Given the description of an element on the screen output the (x, y) to click on. 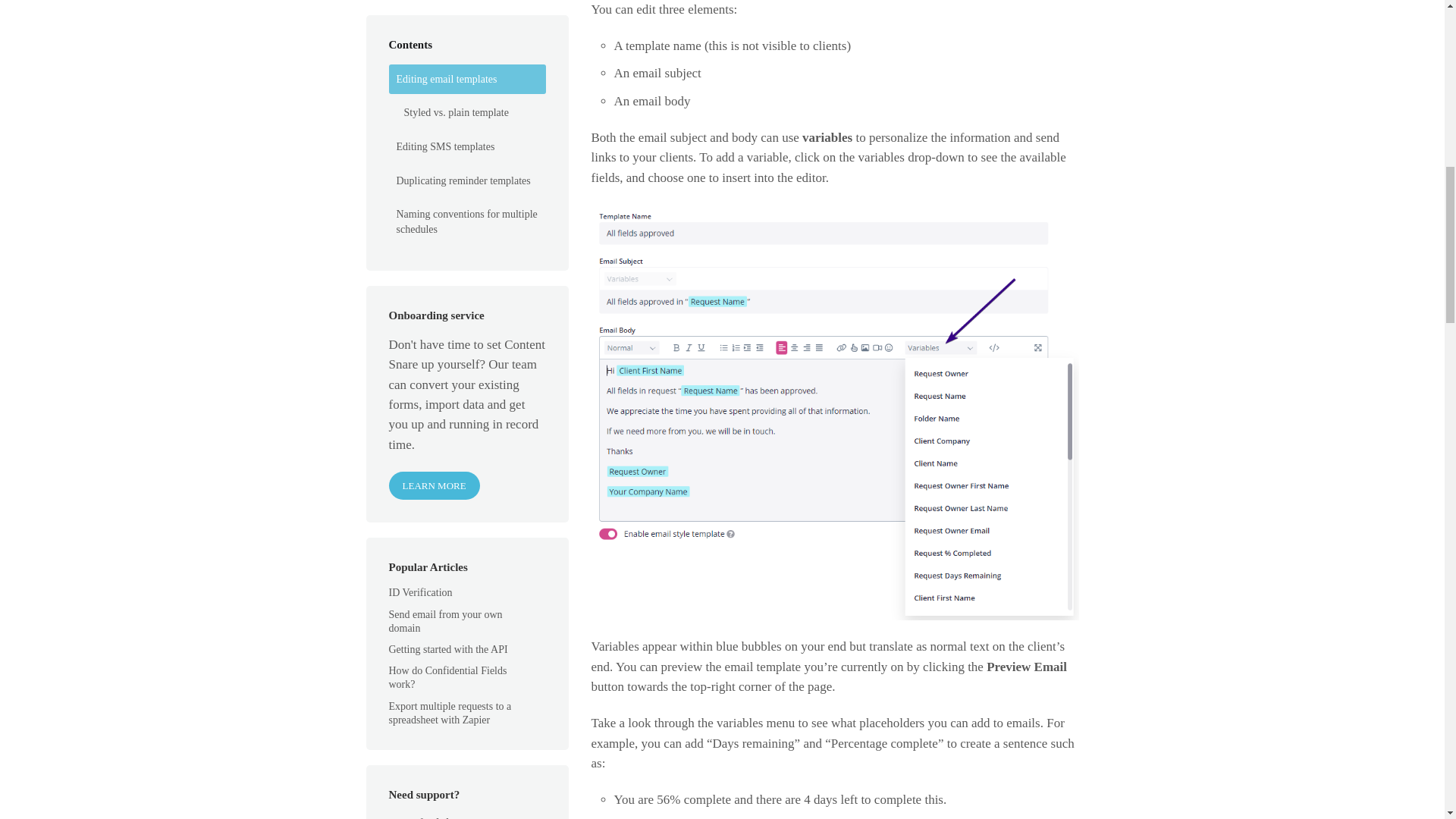
Getting started with the API (456, 24)
Send email from your own domain (445, 4)
Export multiple requests to a spreadsheet with Zapier (449, 88)
CONTACT SUPPORT (447, 279)
How do Confidential Fields work? (447, 52)
